Given the description of an element on the screen output the (x, y) to click on. 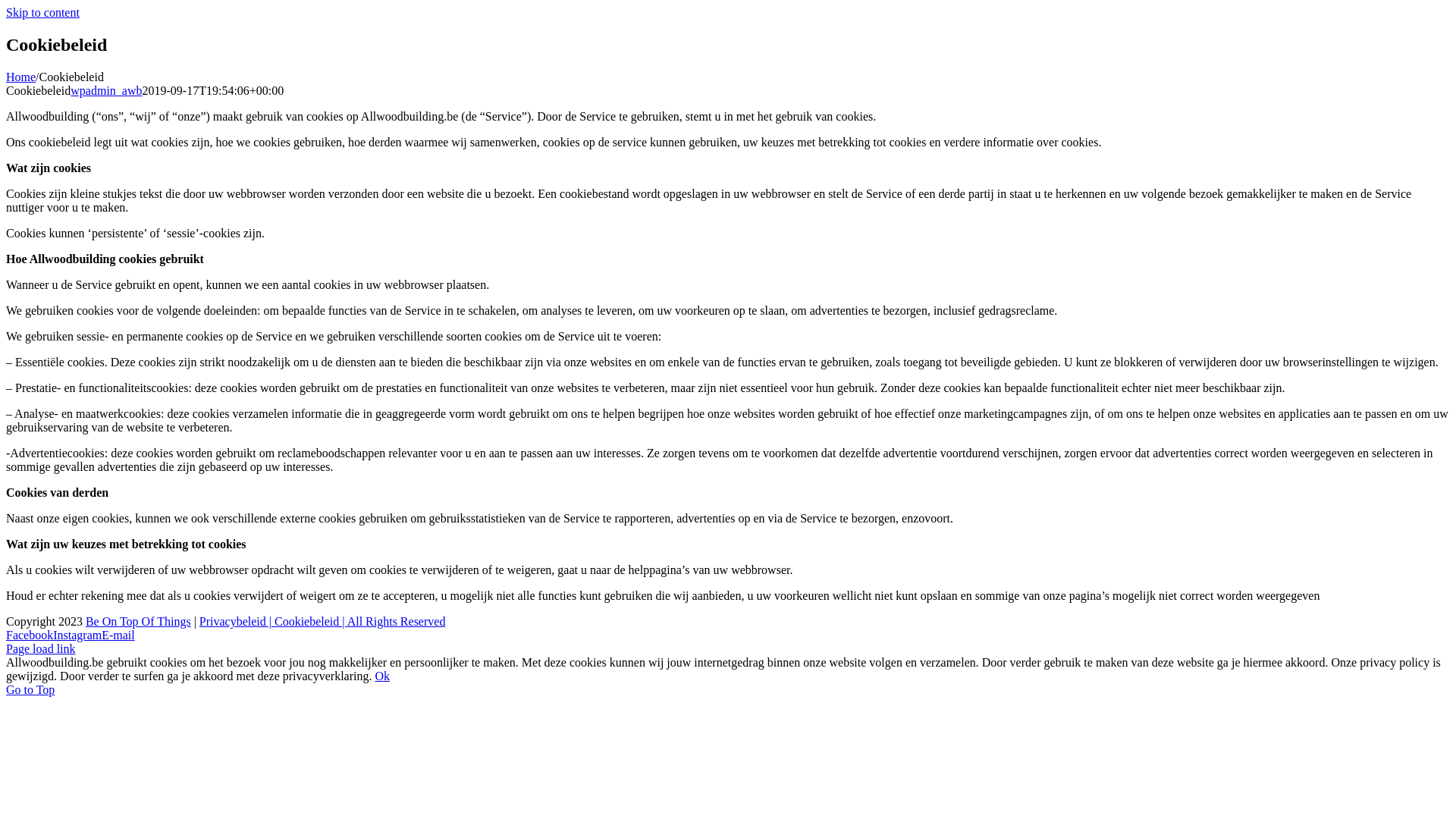
Go to Top Element type: text (30, 689)
Ok Element type: text (381, 675)
Facebook Element type: text (29, 634)
Cookiebeleid | All Rights Reserved Element type: text (359, 621)
wpadmin_awb Element type: text (105, 90)
E-mail Element type: text (117, 634)
Instagram Element type: text (77, 634)
Page load link Element type: text (40, 648)
Privacybeleid | Element type: text (236, 621)
Home Element type: text (20, 76)
Be On Top Of Things Element type: text (138, 621)
Skip to content Element type: text (42, 12)
